Given the description of an element on the screen output the (x, y) to click on. 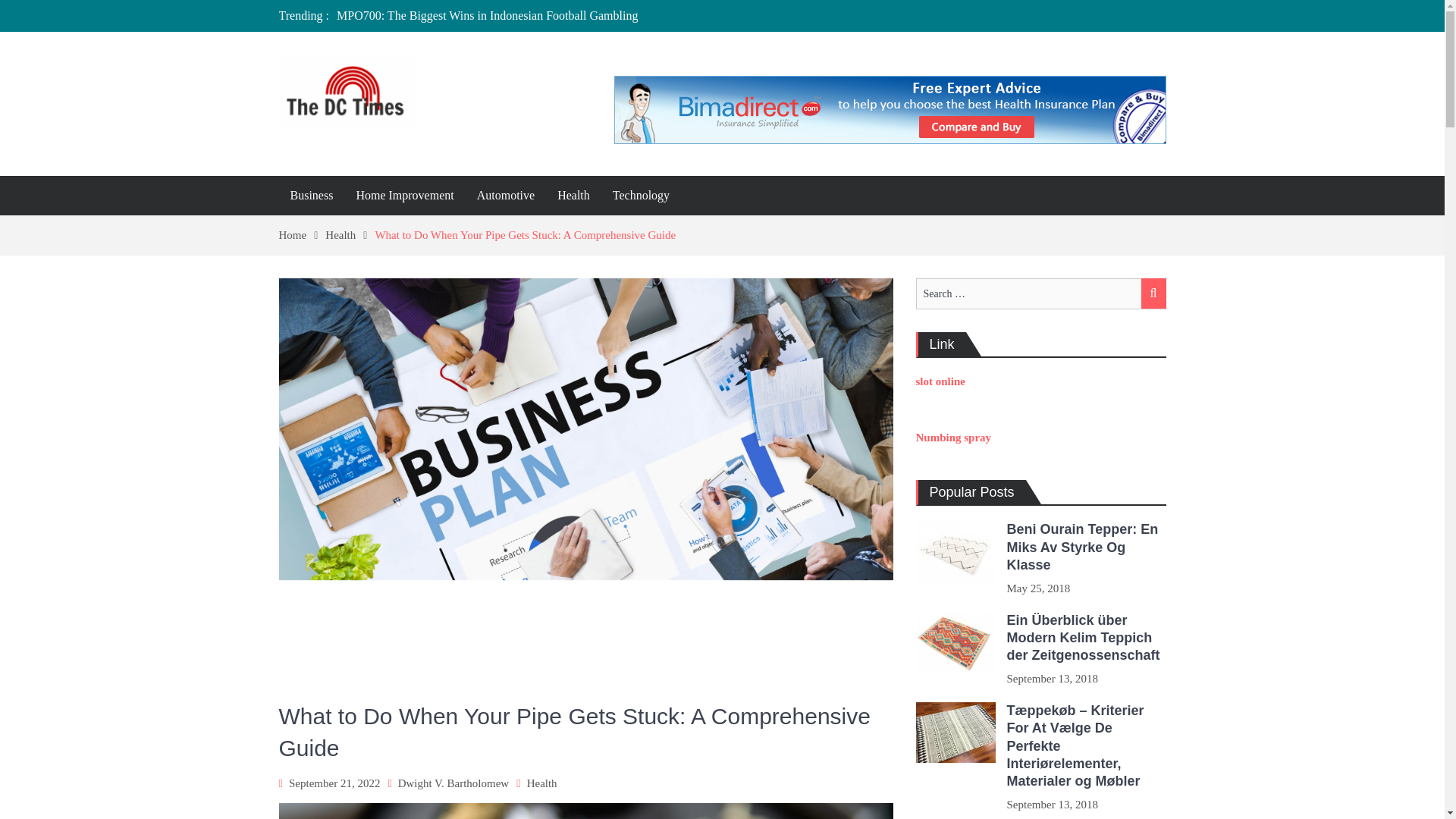
MPO700: The Biggest Wins in Indonesian Football Gambling (486, 15)
Automotive (505, 195)
Health (542, 783)
slot online (940, 381)
Numbing spray (953, 437)
Beni Ourain Tepper: En Miks Av Styrke Og Klasse (1082, 546)
September 21, 2022 (334, 783)
Dwight V. Bartholomew (453, 783)
Home (302, 234)
Health (349, 234)
